Given the description of an element on the screen output the (x, y) to click on. 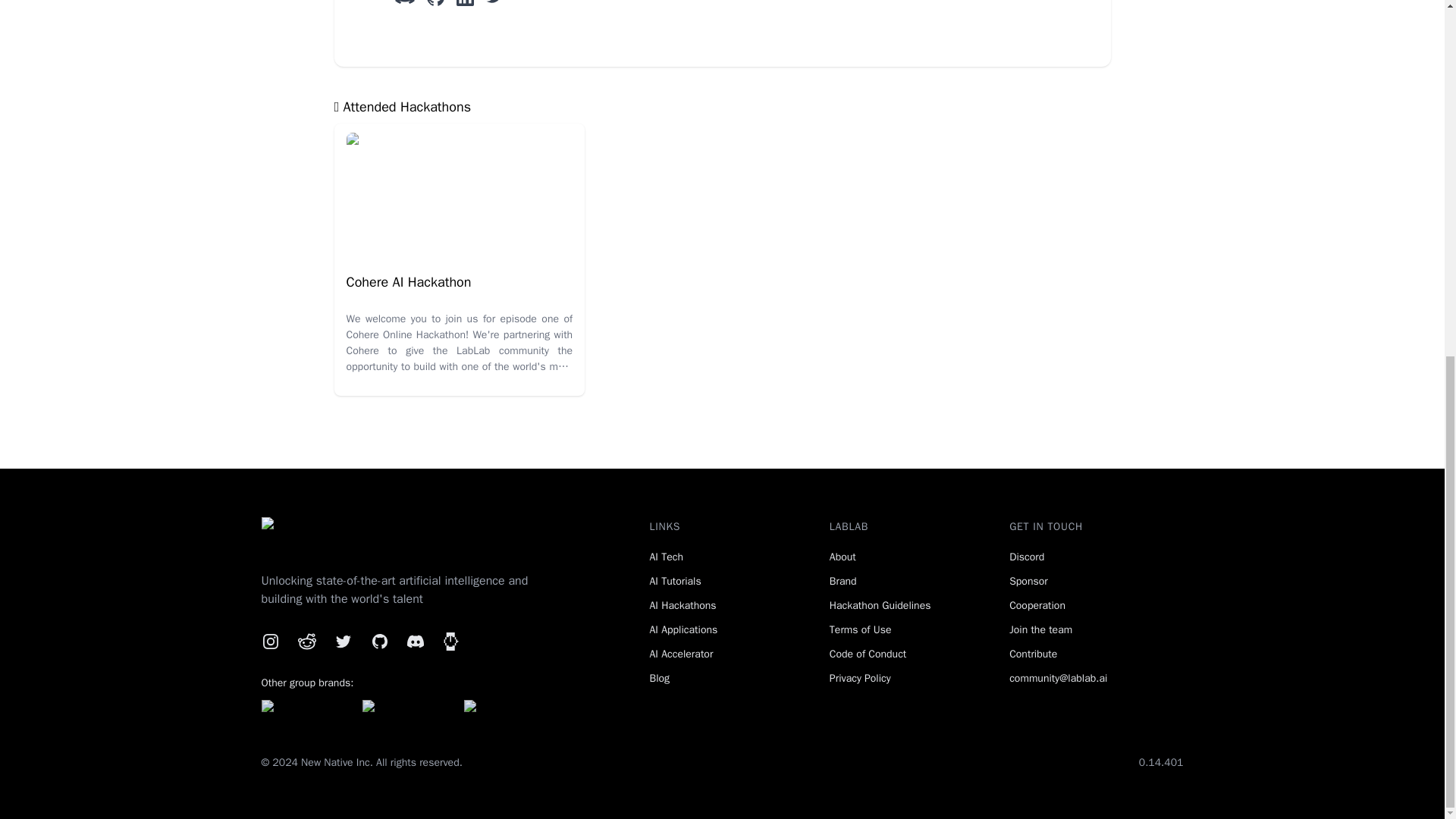
Cooperation (1037, 604)
Blog (659, 677)
Twitter (342, 641)
AI Applications (683, 629)
AI Hackathons (682, 604)
Contribute (1033, 653)
About (842, 556)
Instagram (269, 641)
GitHub (378, 641)
Brand (843, 581)
Reddit (306, 641)
Discord (1026, 556)
Hackathon Guidelines (880, 604)
Join the team (1040, 629)
